Given the description of an element on the screen output the (x, y) to click on. 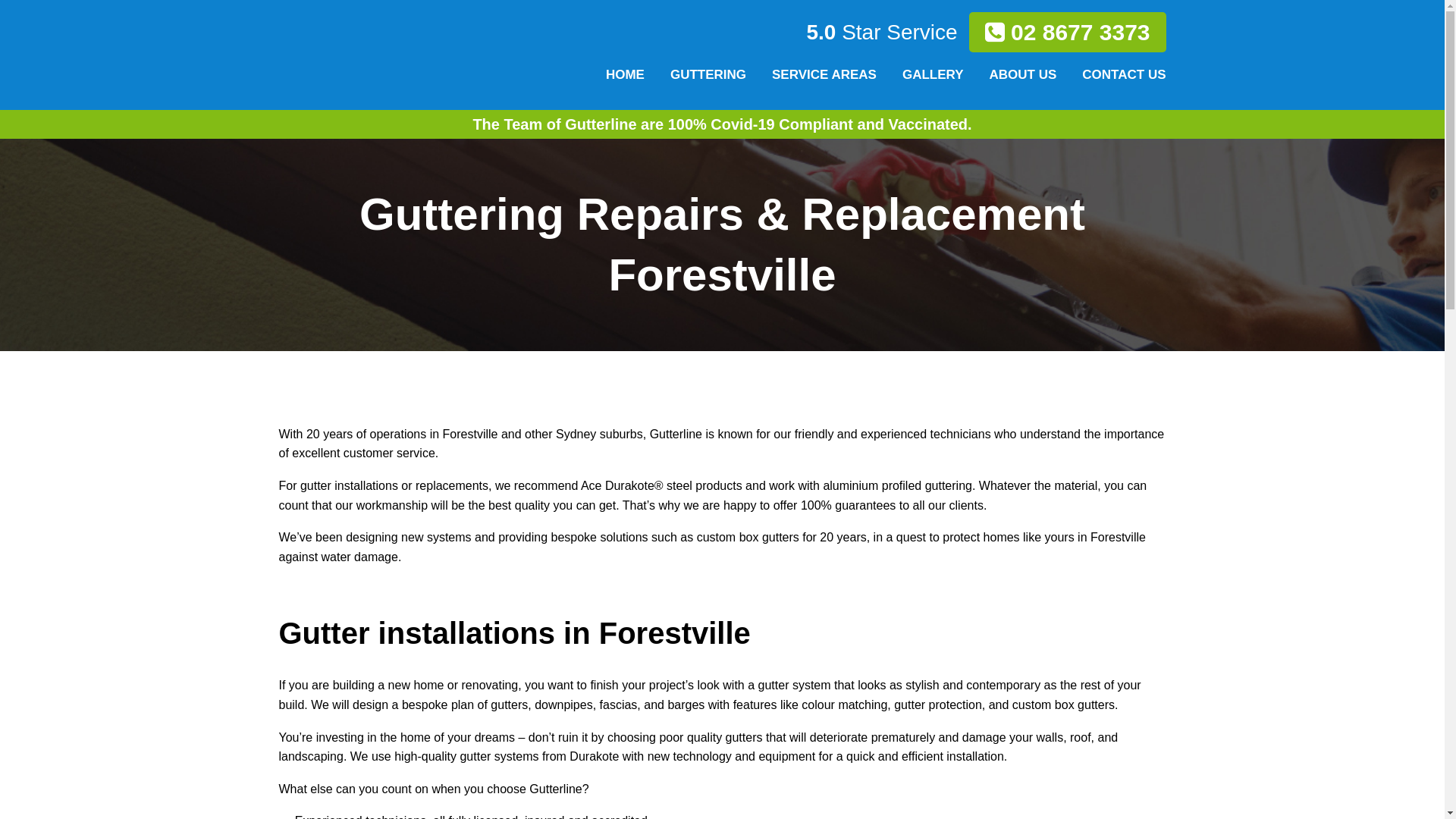
HOME Element type: text (625, 74)
GUTTERING Element type: text (708, 74)
ABOUT US Element type: text (1023, 74)
02 8677 3373 Element type: text (1067, 32)
SERVICE AREAS Element type: text (824, 74)
GALLERY Element type: text (932, 74)
CONTACT US Element type: text (1117, 74)
